Given the description of an element on the screen output the (x, y) to click on. 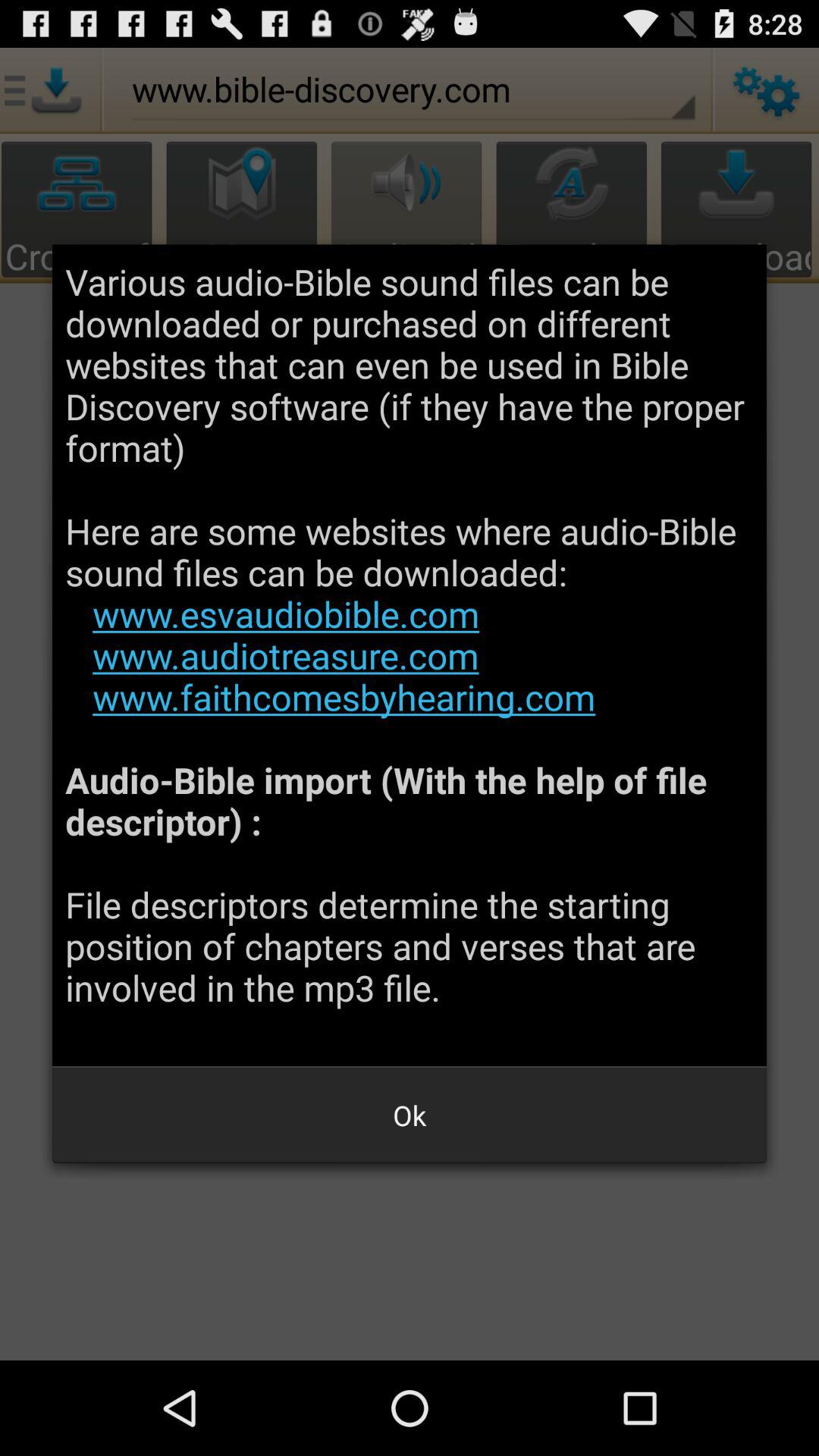
turn on ok (409, 1115)
